Given the description of an element on the screen output the (x, y) to click on. 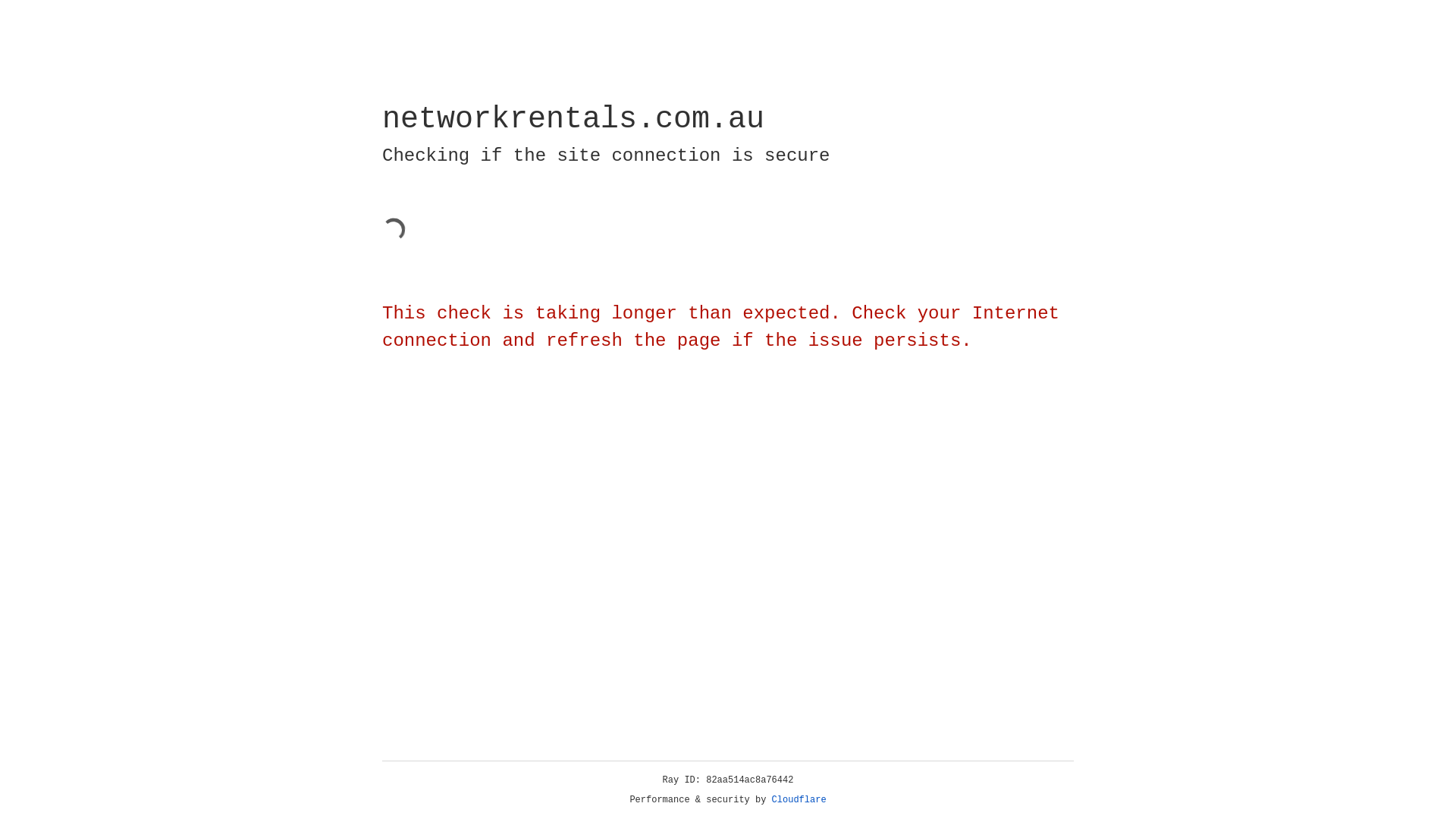
Cloudflare Element type: text (798, 799)
